Given the description of an element on the screen output the (x, y) to click on. 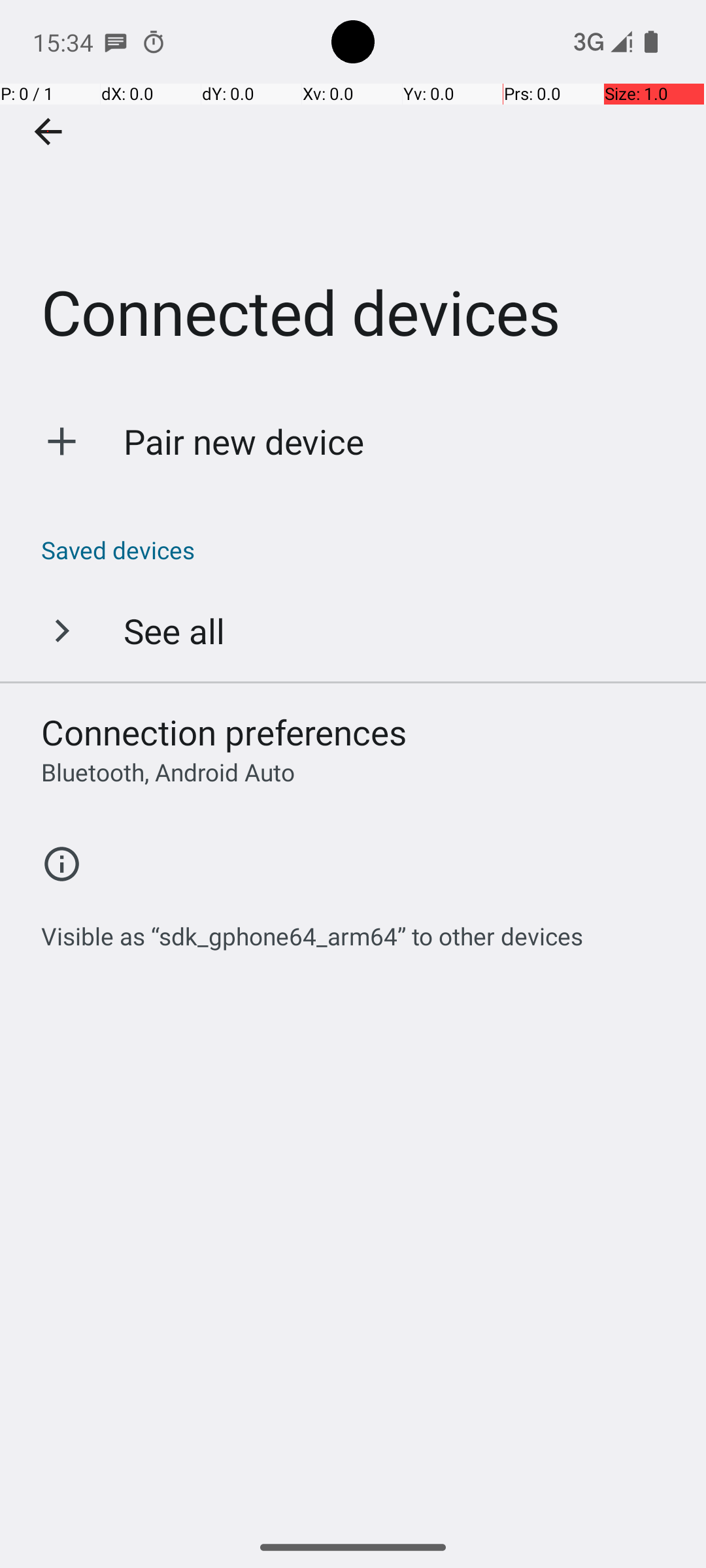
Visible as “sdk_gphone64_arm64” to other devices Element type: android.widget.TextView (312, 928)
